Given the description of an element on the screen output the (x, y) to click on. 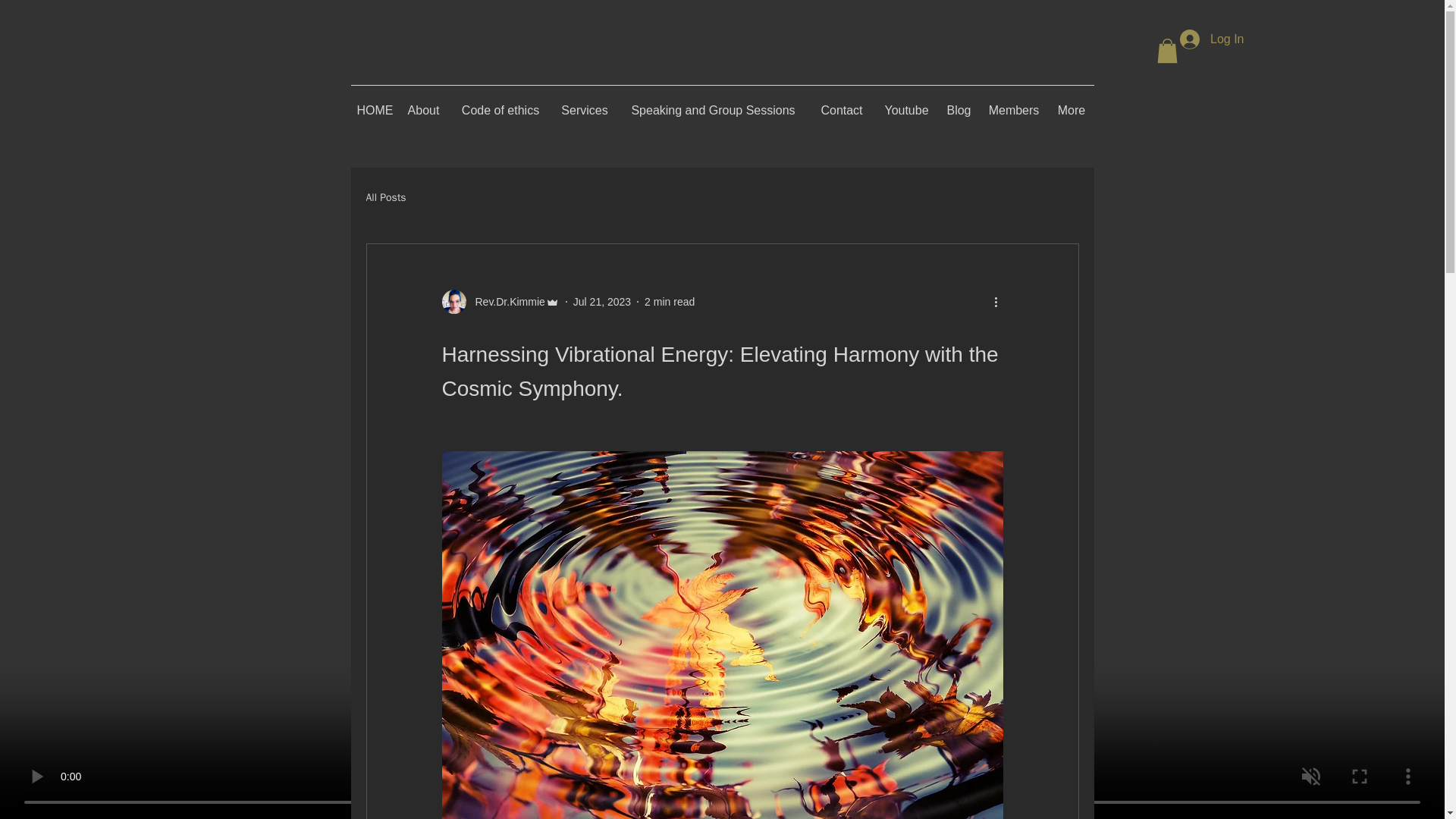
About (423, 103)
Youtube (906, 103)
HOME (373, 103)
Services (583, 103)
Speaking and Group Sessions (713, 103)
Members (1013, 103)
Rev.Dr.Kimmie (504, 302)
Log In (1211, 39)
Code of ethics (500, 103)
Blog (958, 103)
Jul 21, 2023 (601, 301)
Contact (842, 103)
Rev.Dr.Kimmie (500, 301)
All Posts (385, 197)
2 min read (669, 301)
